Given the description of an element on the screen output the (x, y) to click on. 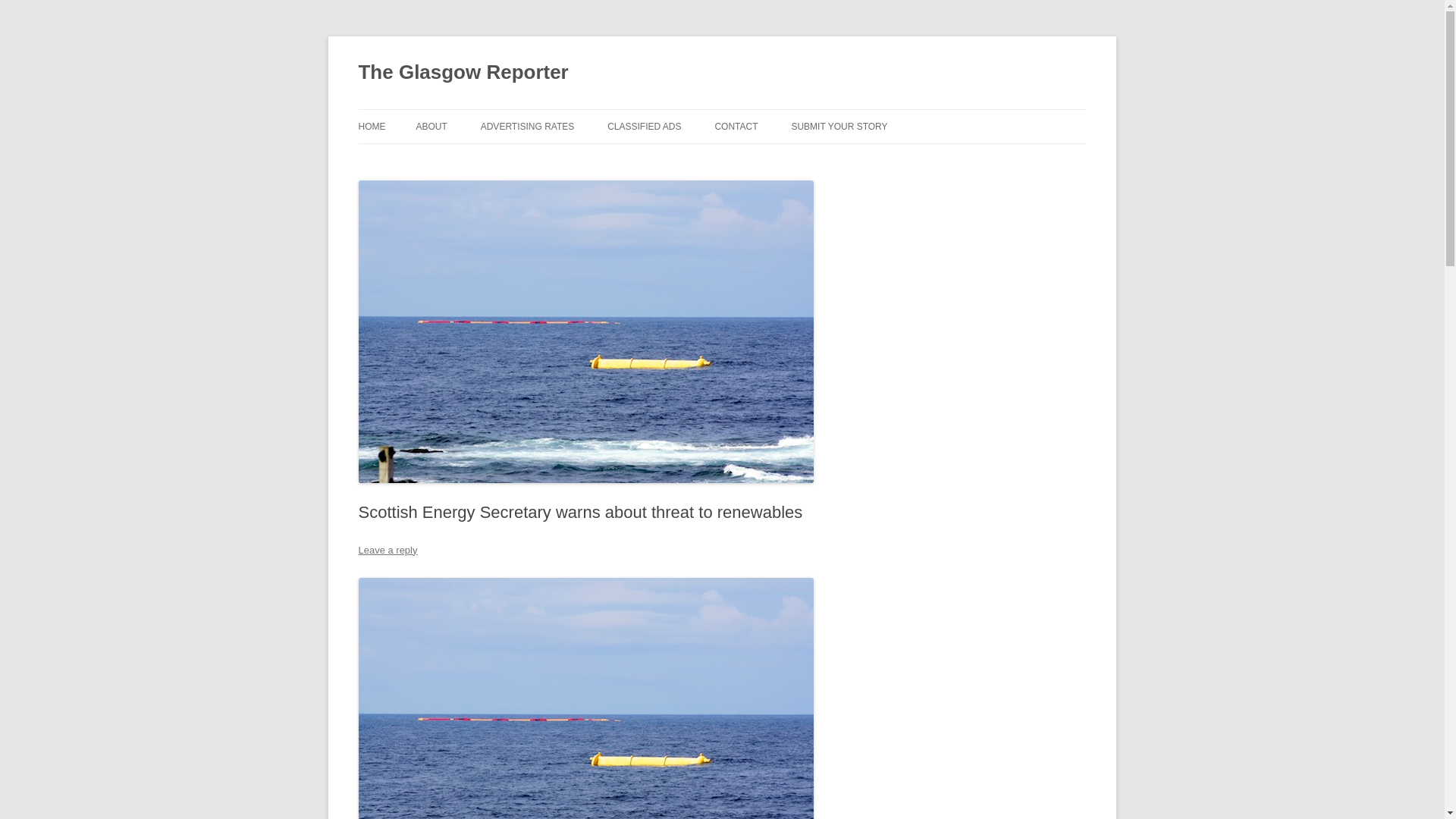
CONTACT (735, 126)
The Glasgow Reporter (462, 72)
CLASSIFIED ADS (644, 126)
Leave a reply (387, 550)
SONY DSC (585, 698)
BROWSE ADS (682, 158)
SUBMIT YOUR STORY (838, 126)
ABOUT (430, 126)
ADVERTISING RATES (527, 126)
